Given the description of an element on the screen output the (x, y) to click on. 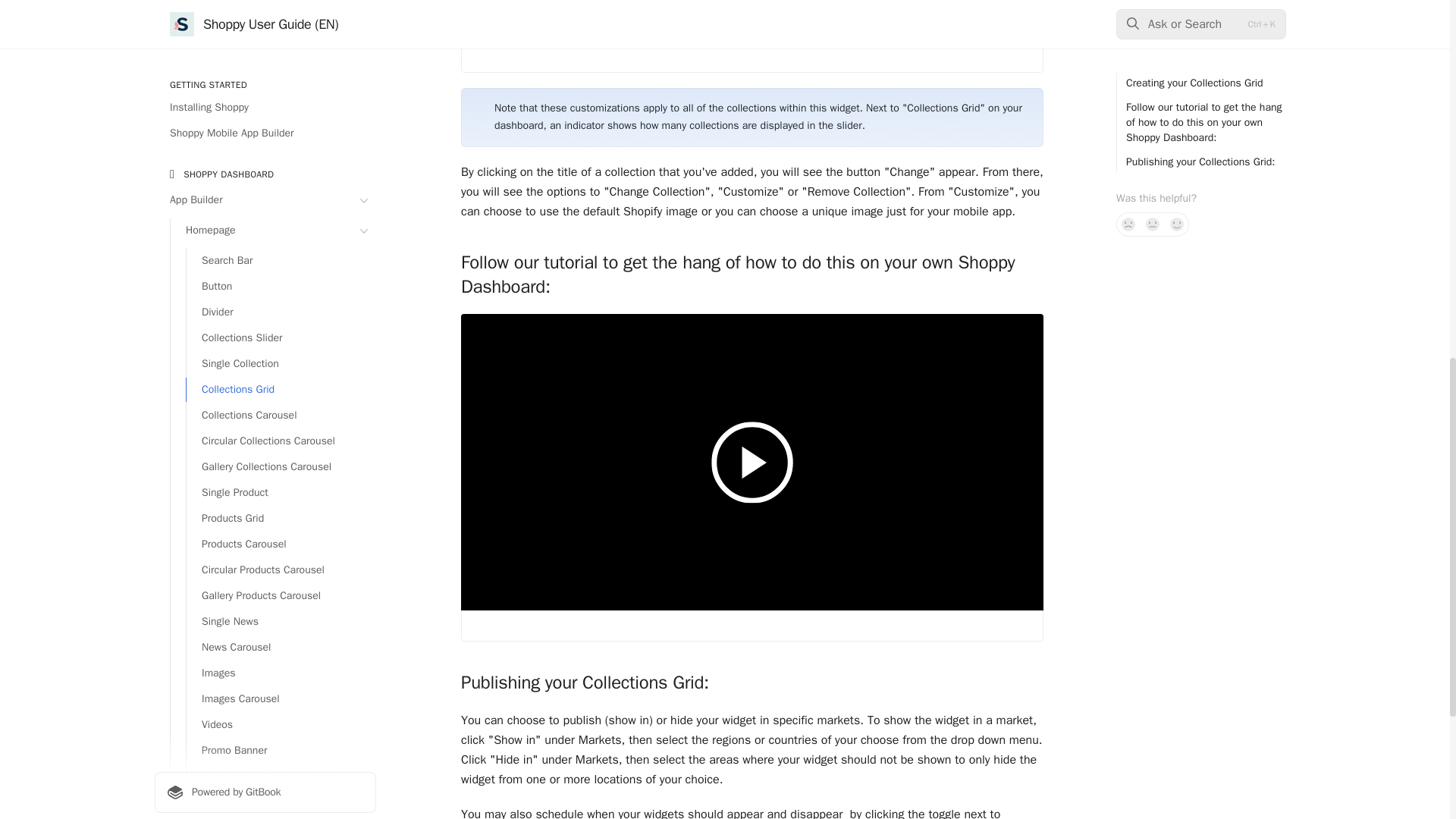
Brand Kit (272, 143)
Catalogue (272, 66)
Design Options (272, 118)
Text (280, 10)
Countdown Timer (280, 34)
Pages (264, 175)
Navigation (272, 92)
Engage (264, 201)
